Given the description of an element on the screen output the (x, y) to click on. 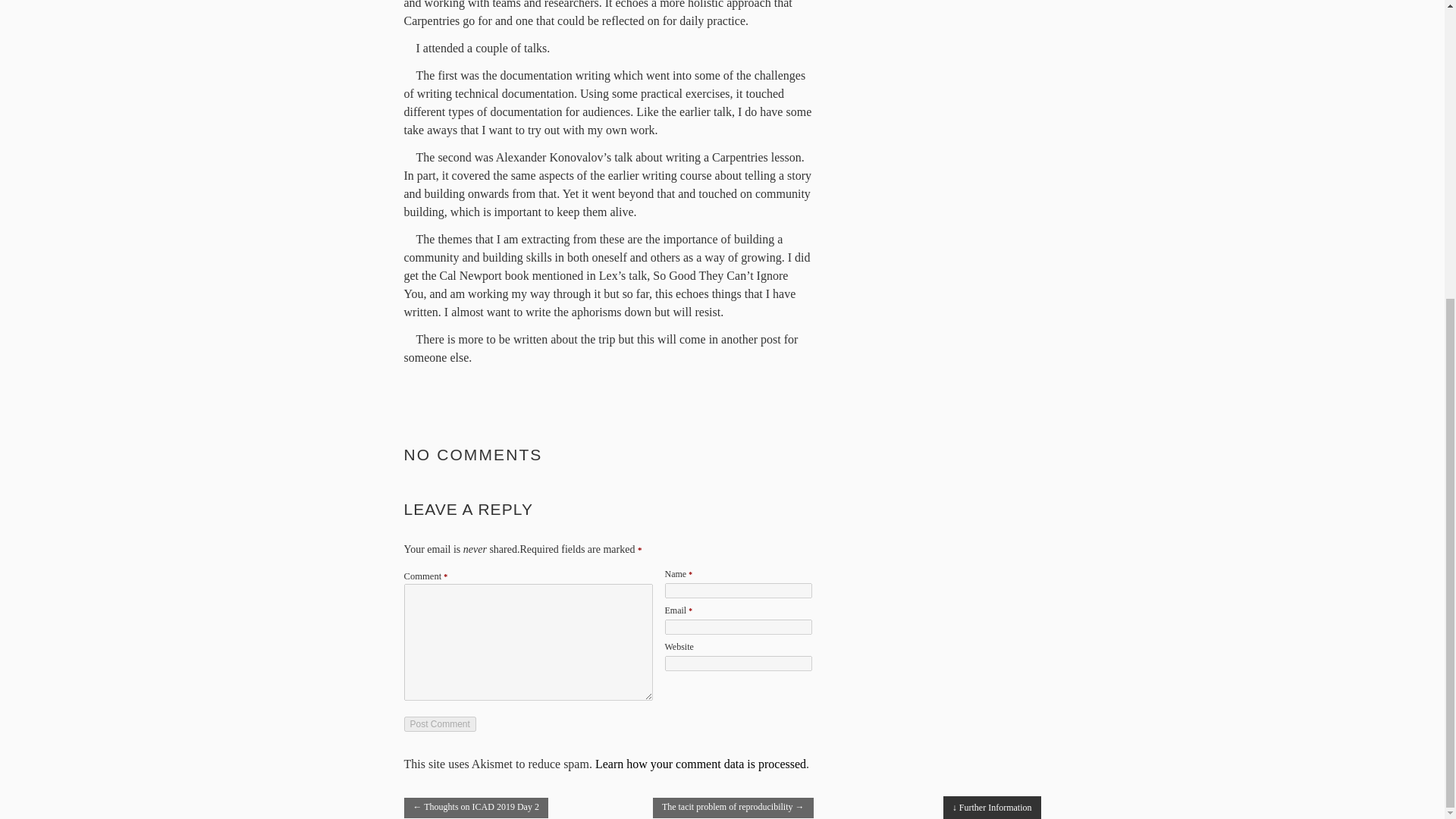
Post Comment (439, 724)
Post Comment (439, 724)
Learn how your comment data is processed (700, 763)
